Given the description of an element on the screen output the (x, y) to click on. 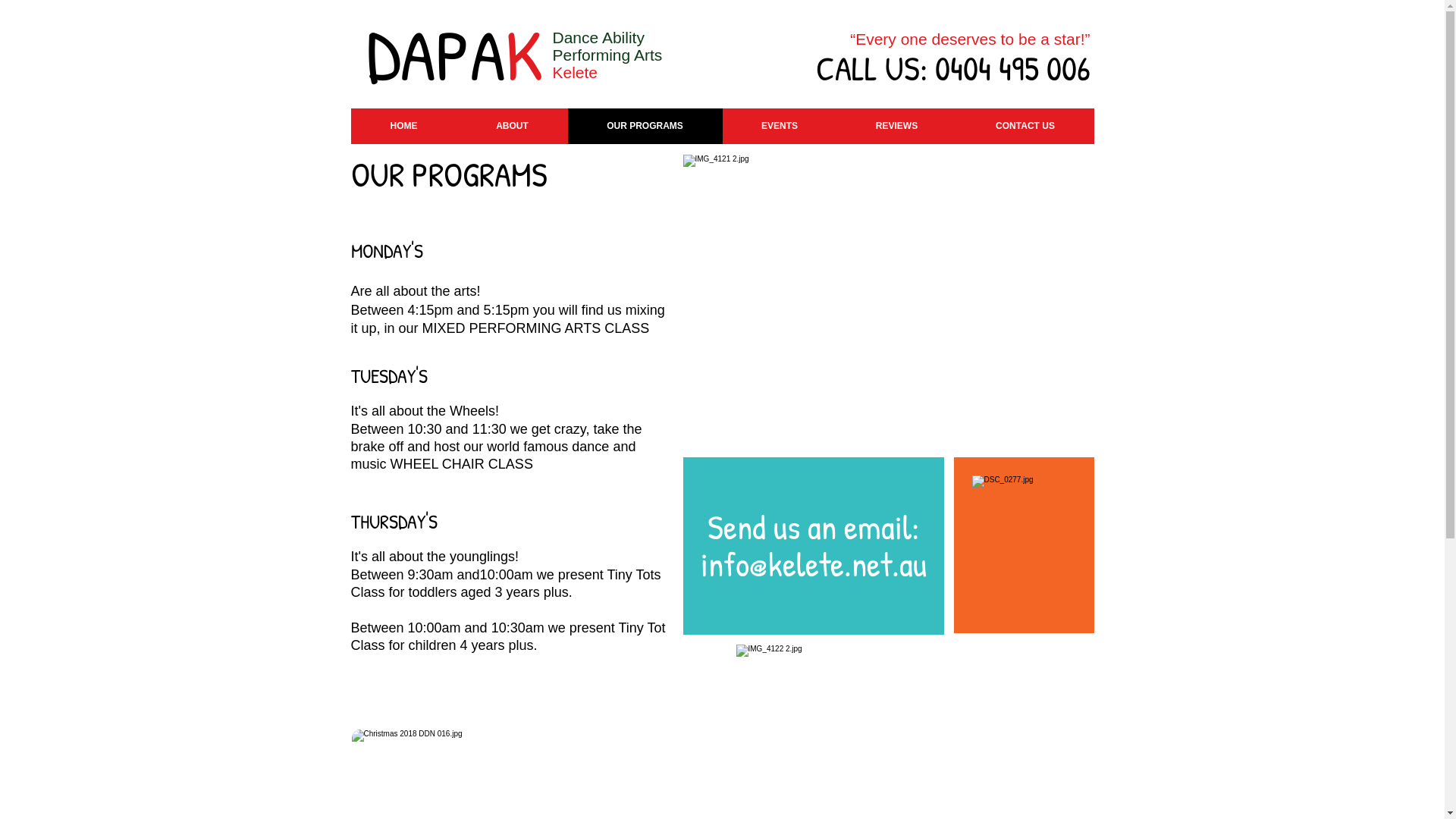
OUR PROGRAMS Element type: text (644, 126)
HOME Element type: text (403, 126)
Dance Ability Element type: text (597, 37)
EVENTS Element type: text (778, 126)
DAPAK Element type: text (453, 54)
info@kelete.net.au Element type: text (813, 563)
ABOUT Element type: text (511, 126)
REVIEWS Element type: text (897, 126)
CONTACT US Element type: text (1025, 126)
